Given the description of an element on the screen output the (x, y) to click on. 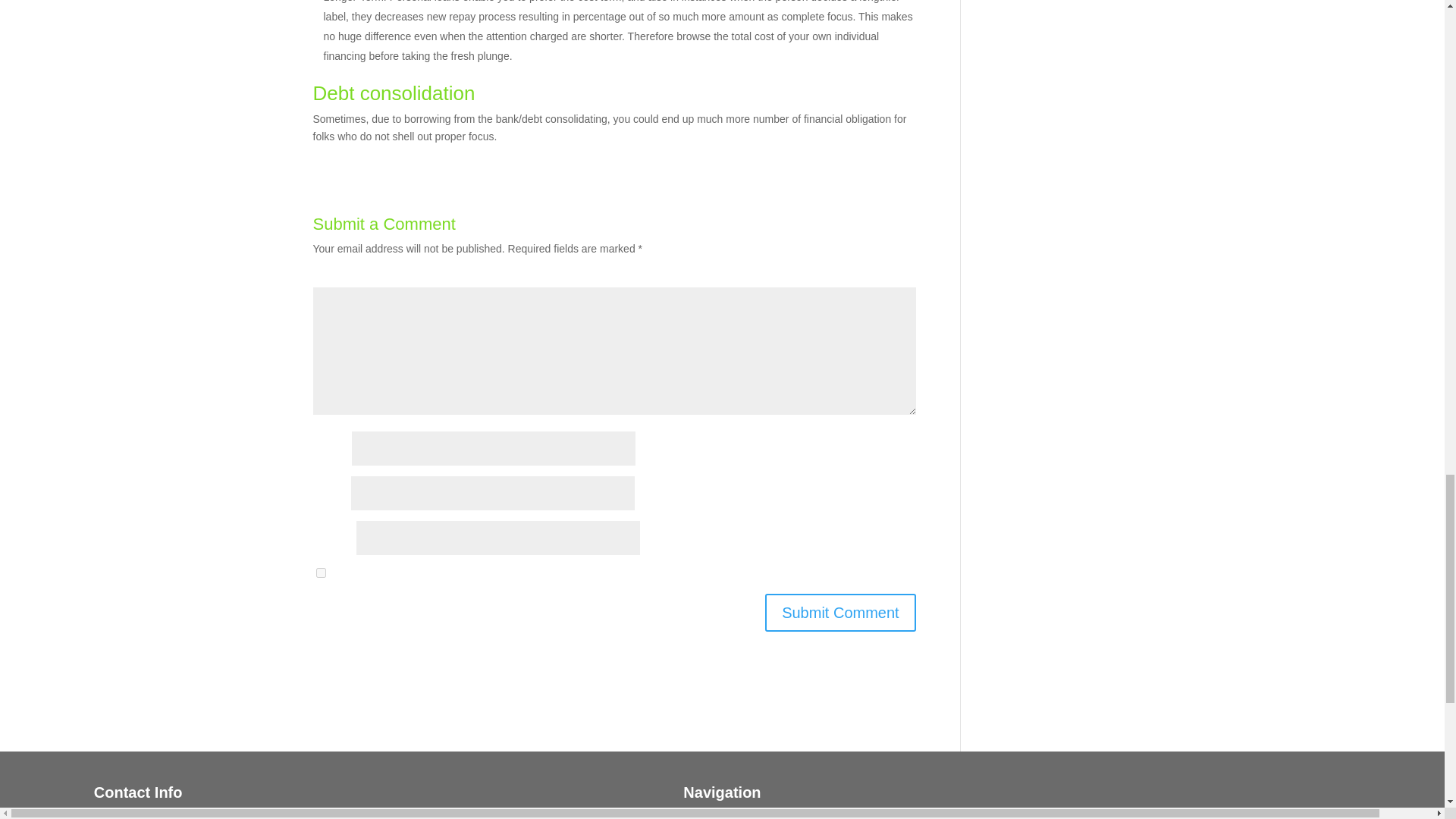
yes (319, 573)
Submit Comment (840, 612)
Submit Comment (840, 612)
